Given the description of an element on the screen output the (x, y) to click on. 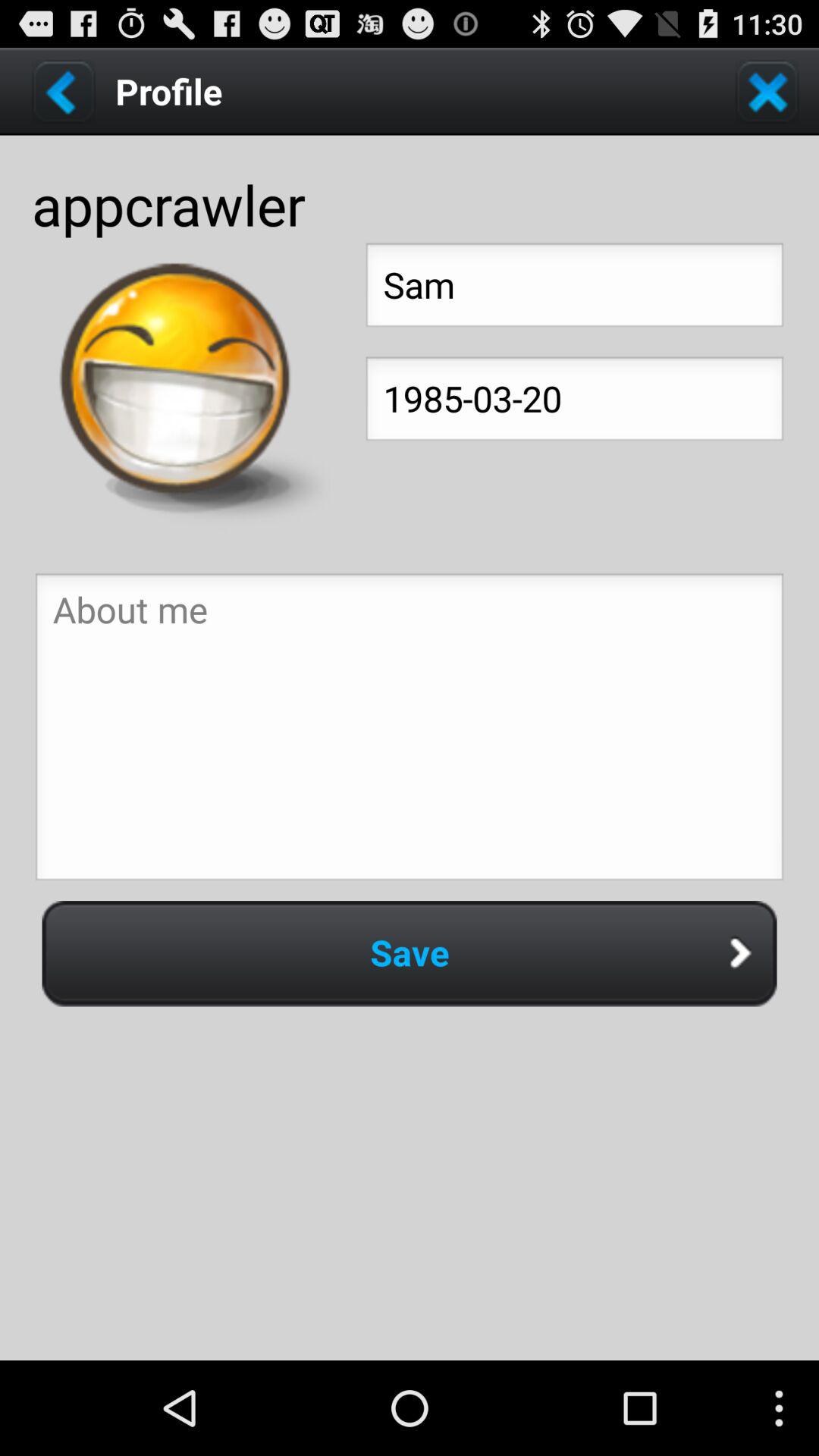
go close (767, 91)
